Given the description of an element on the screen output the (x, y) to click on. 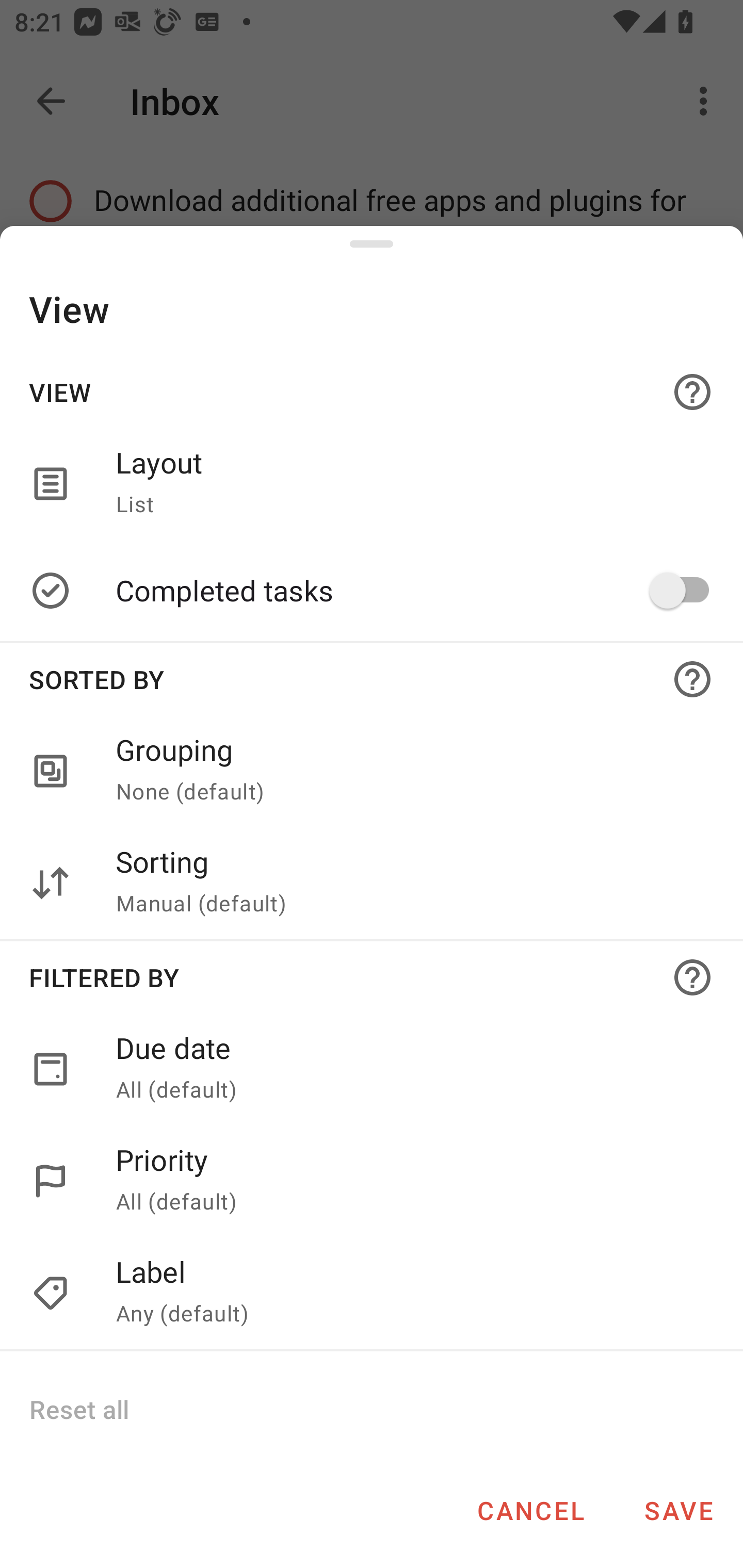
Layout List (371, 483)
Layout List (407, 483)
Completed tasks (407, 590)
SORTED BY (371, 678)
Grouping None (default) (371, 771)
Grouping None (default) (407, 771)
Sorting Manual (default) (371, 883)
Sorting Manual (default) (407, 883)
FILTERED BY (371, 976)
Due date All (default) (371, 1068)
Due date All (default) (407, 1068)
Priority All (default) (371, 1181)
Priority All (default) (407, 1181)
Label Any (default) (371, 1293)
Label Any (default) (407, 1293)
Reset all (78, 1408)
CANCEL (530, 1510)
SAVE (678, 1510)
